Given the description of an element on the screen output the (x, y) to click on. 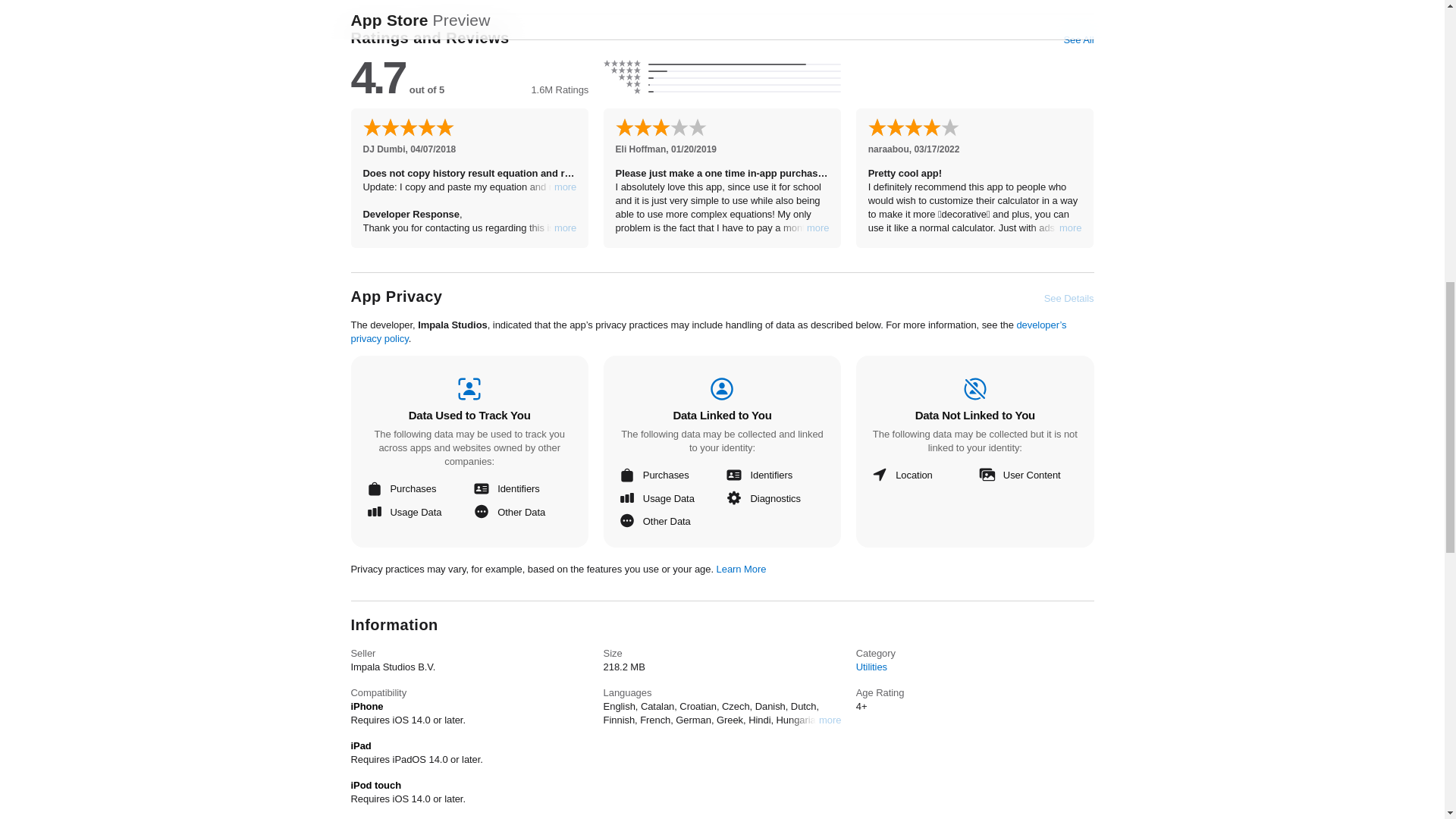
more (565, 228)
See Details (1068, 298)
more (565, 187)
more (829, 719)
more (817, 228)
See All (1077, 39)
Utilities (871, 666)
more (1070, 228)
Learn More (741, 568)
